Given the description of an element on the screen output the (x, y) to click on. 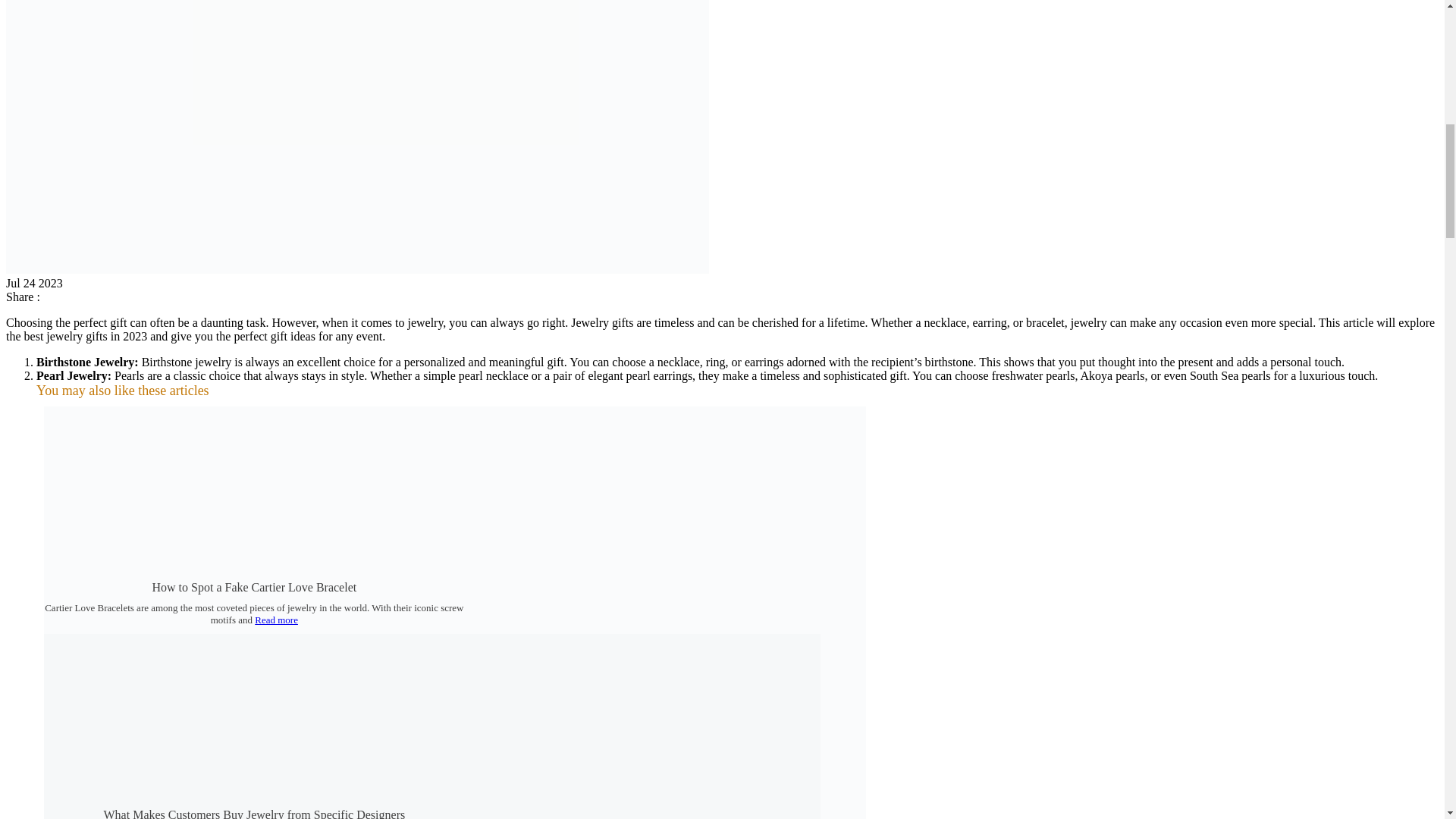
How to Spot a Fake Cartier Love Bracelet (253, 587)
What Makes Customers Buy Jewelry from Specific Designers (253, 813)
How to Spot a Fake Cartier Love Bracelet (253, 587)
What Makes Customers Buy Jewelry from Specific Designers (253, 813)
Read more (276, 619)
